Given the description of an element on the screen output the (x, y) to click on. 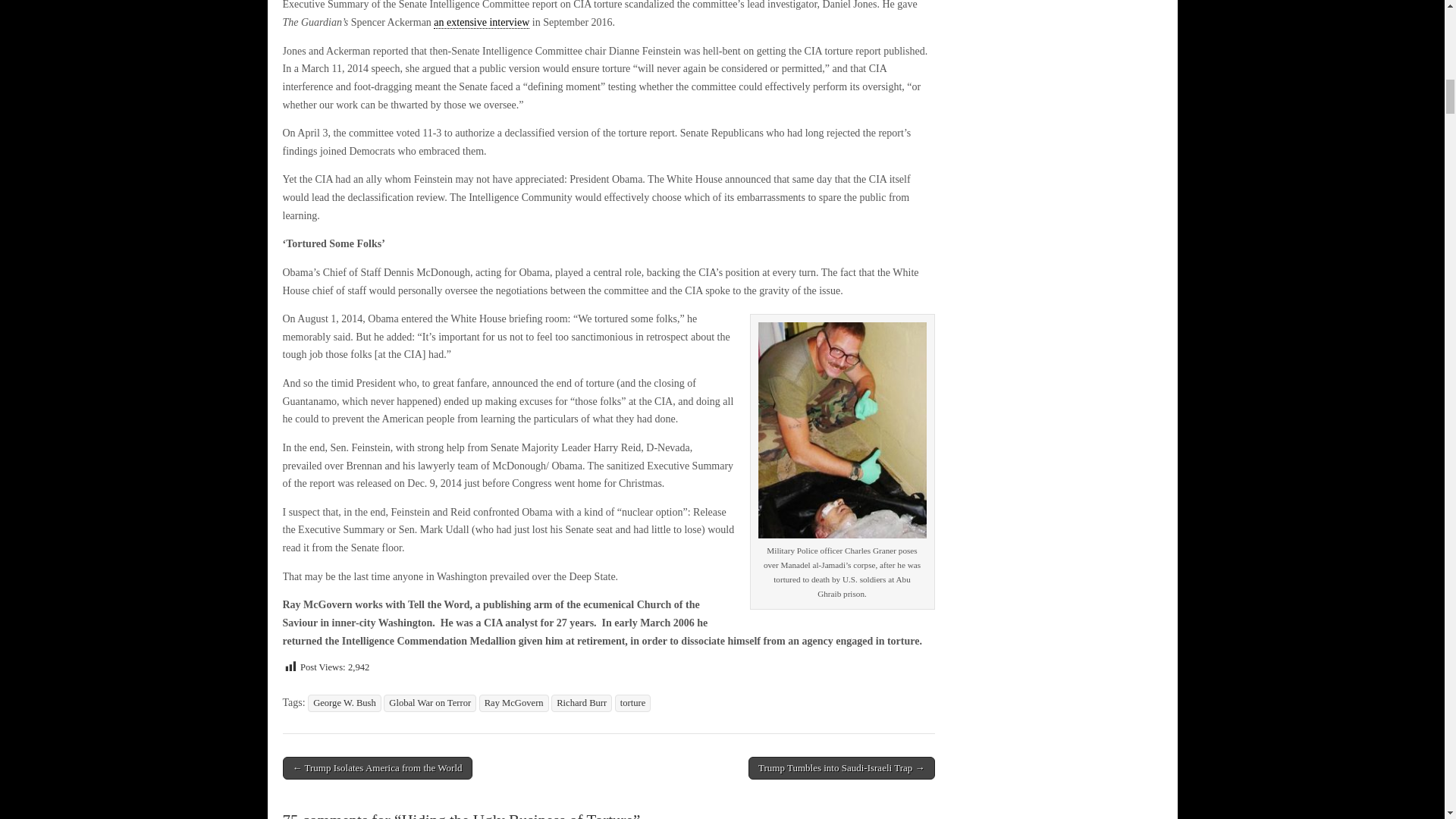
an extensive interview (481, 22)
